Given the description of an element on the screen output the (x, y) to click on. 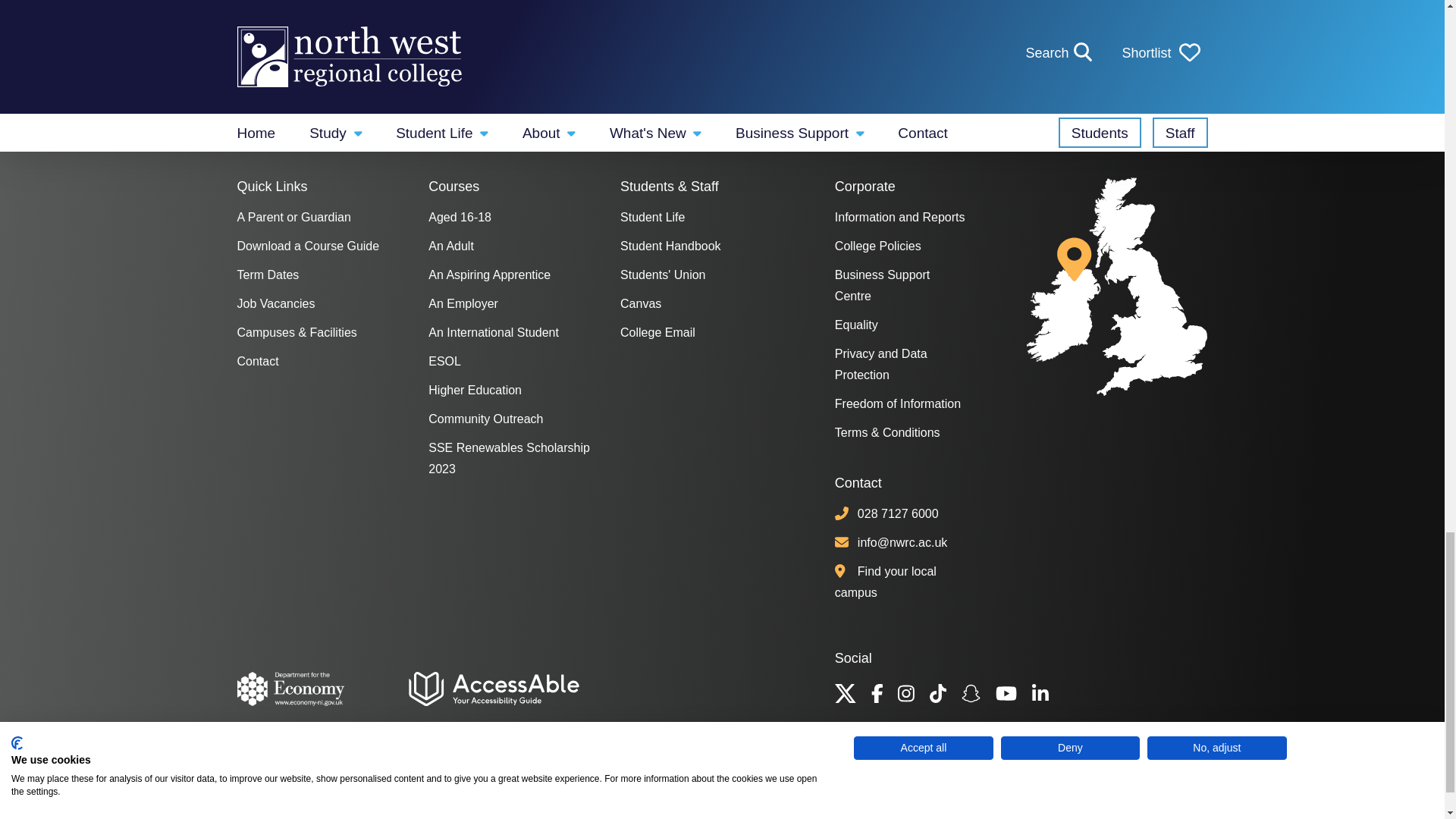
Back to top (1157, 774)
